Given the description of an element on the screen output the (x, y) to click on. 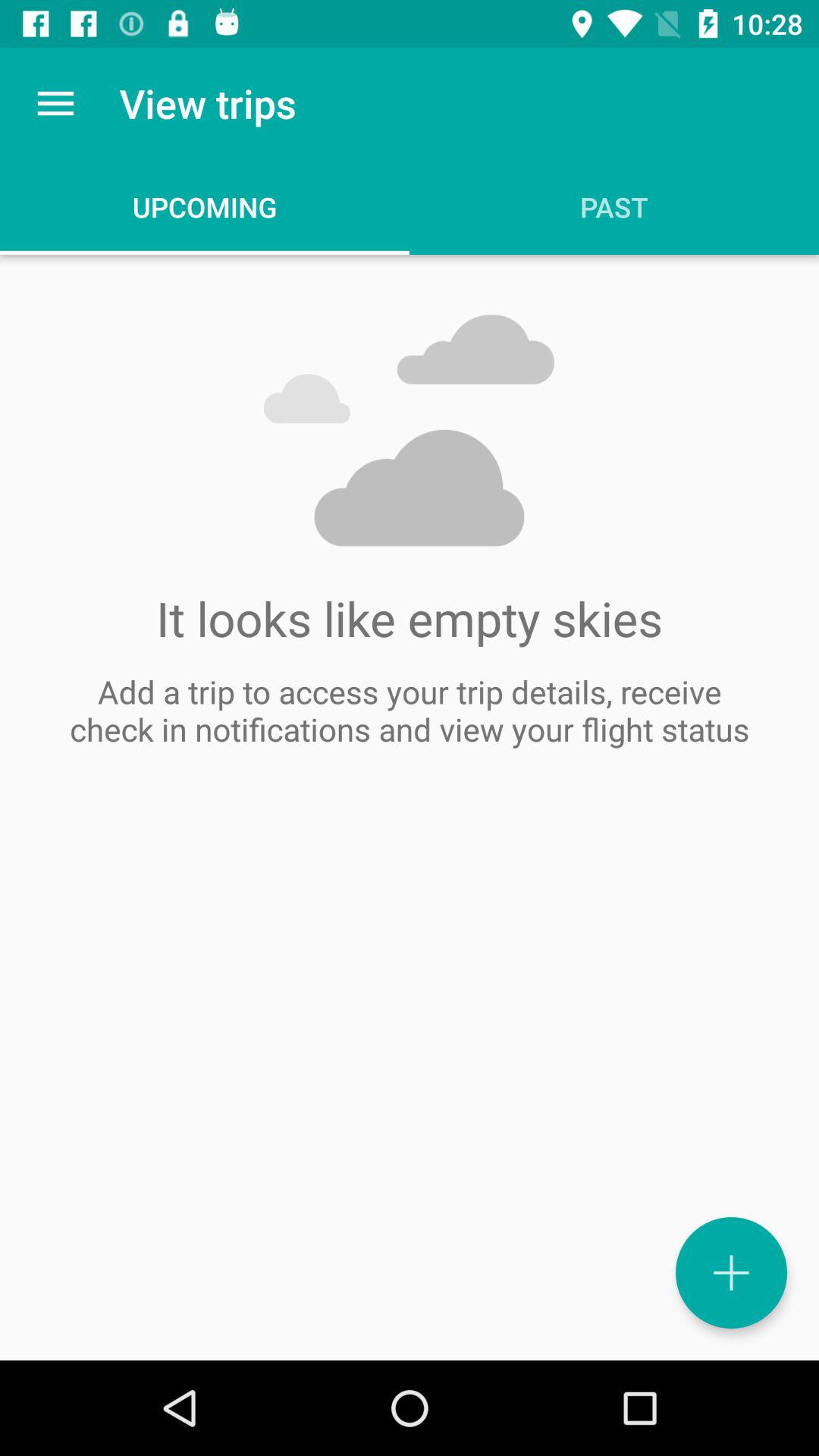
open the icon below the add a trip (731, 1272)
